Given the description of an element on the screen output the (x, y) to click on. 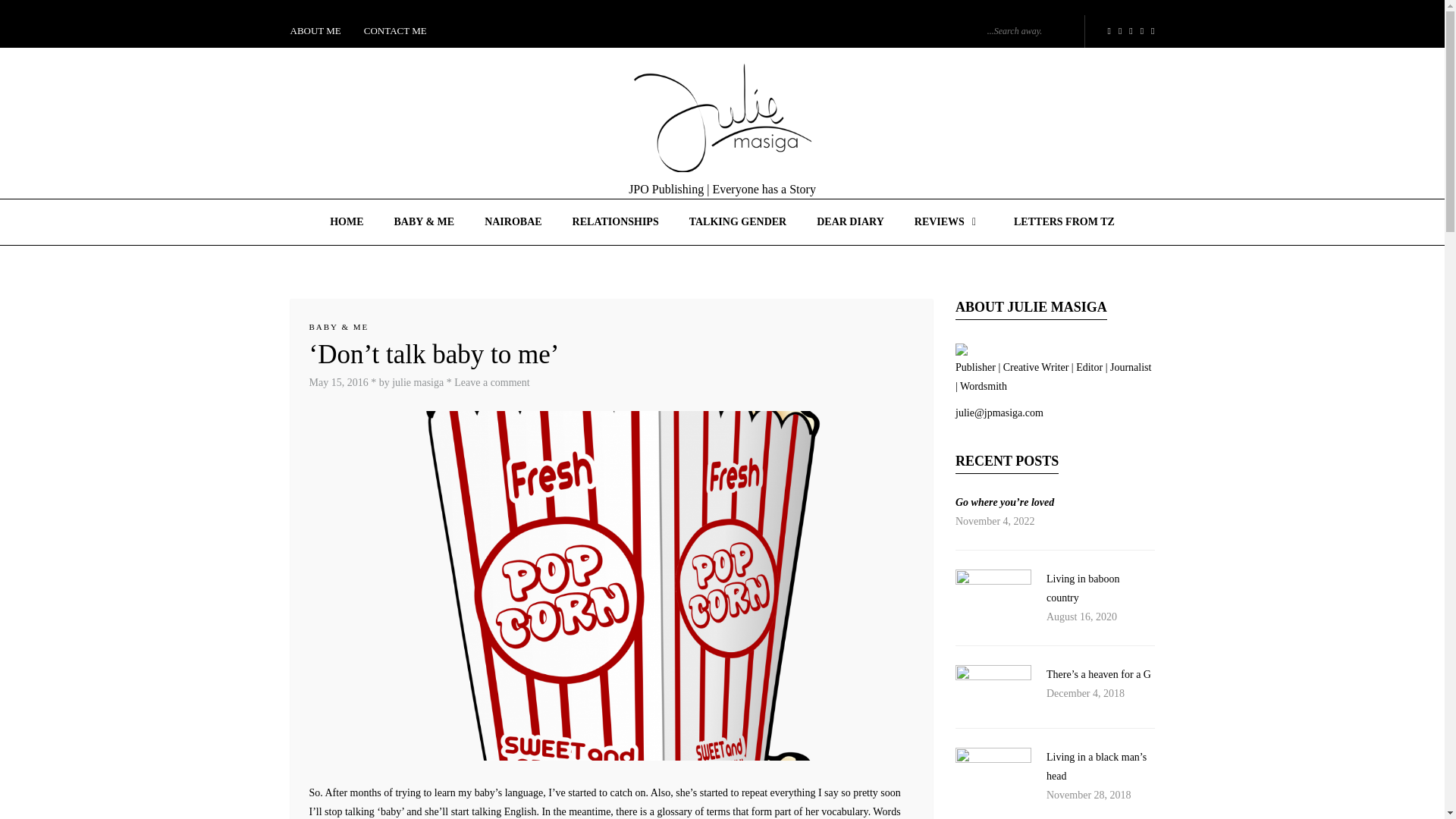
CONTACT ME (395, 31)
NAIROBAE (512, 221)
TALKING GENDER (738, 221)
DEAR DIARY (850, 221)
RELATIONSHIPS (615, 221)
HOME (346, 221)
ABOUT ME (320, 31)
LETTERS FROM TZ (1063, 221)
REVIEWS (948, 221)
Leave a comment (491, 382)
